Given the description of an element on the screen output the (x, y) to click on. 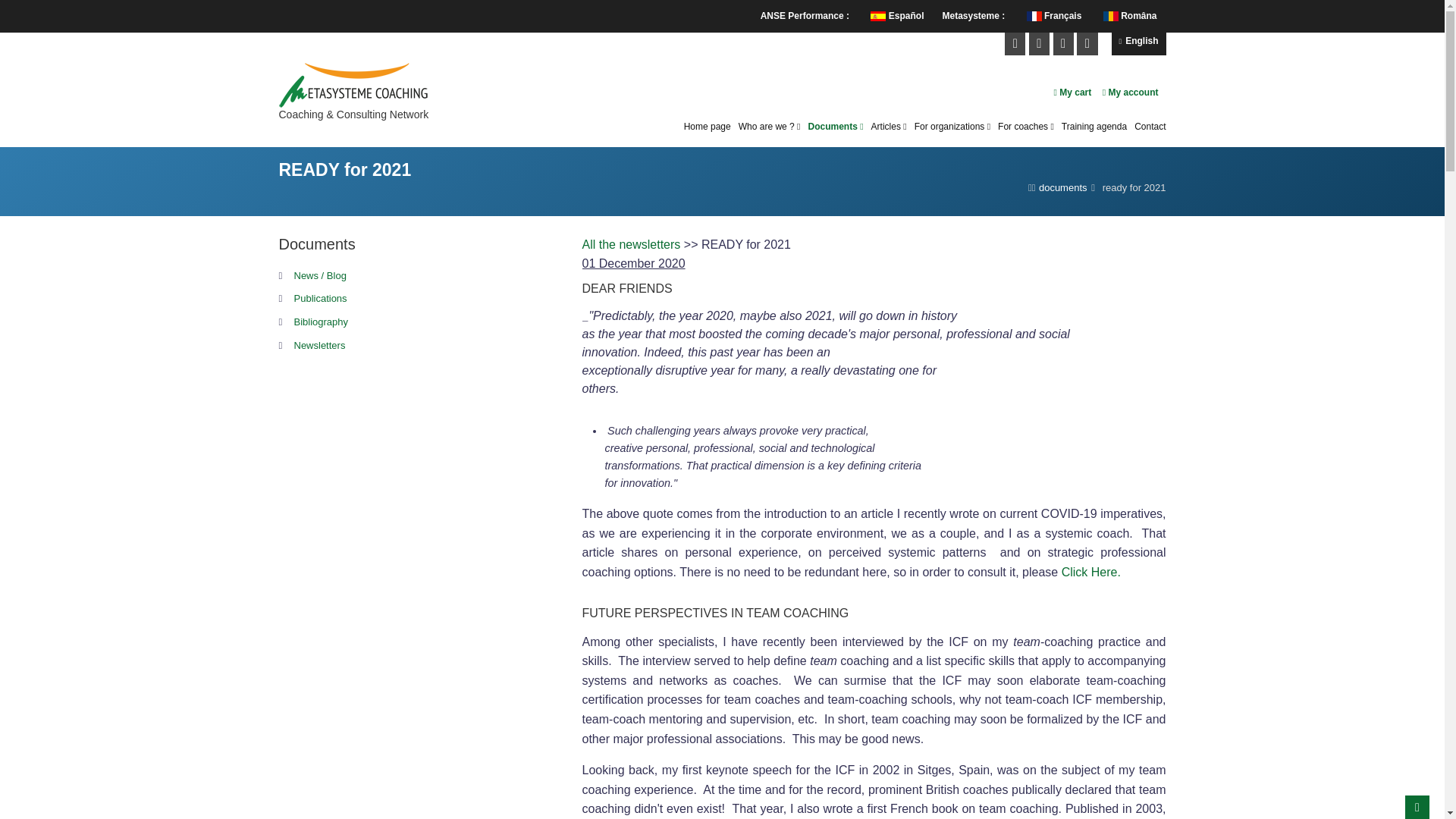
Articles (888, 126)
Home page (707, 126)
YouTube (1087, 42)
My cart (1073, 91)
Who are we ? (769, 126)
Documents (835, 126)
Who are we ? (769, 126)
My account (1130, 91)
Documents (835, 126)
English (1139, 43)
Linkedin (1039, 42)
Facebook (1014, 42)
Language : English (1139, 43)
Vimeo (1063, 42)
